Given the description of an element on the screen output the (x, y) to click on. 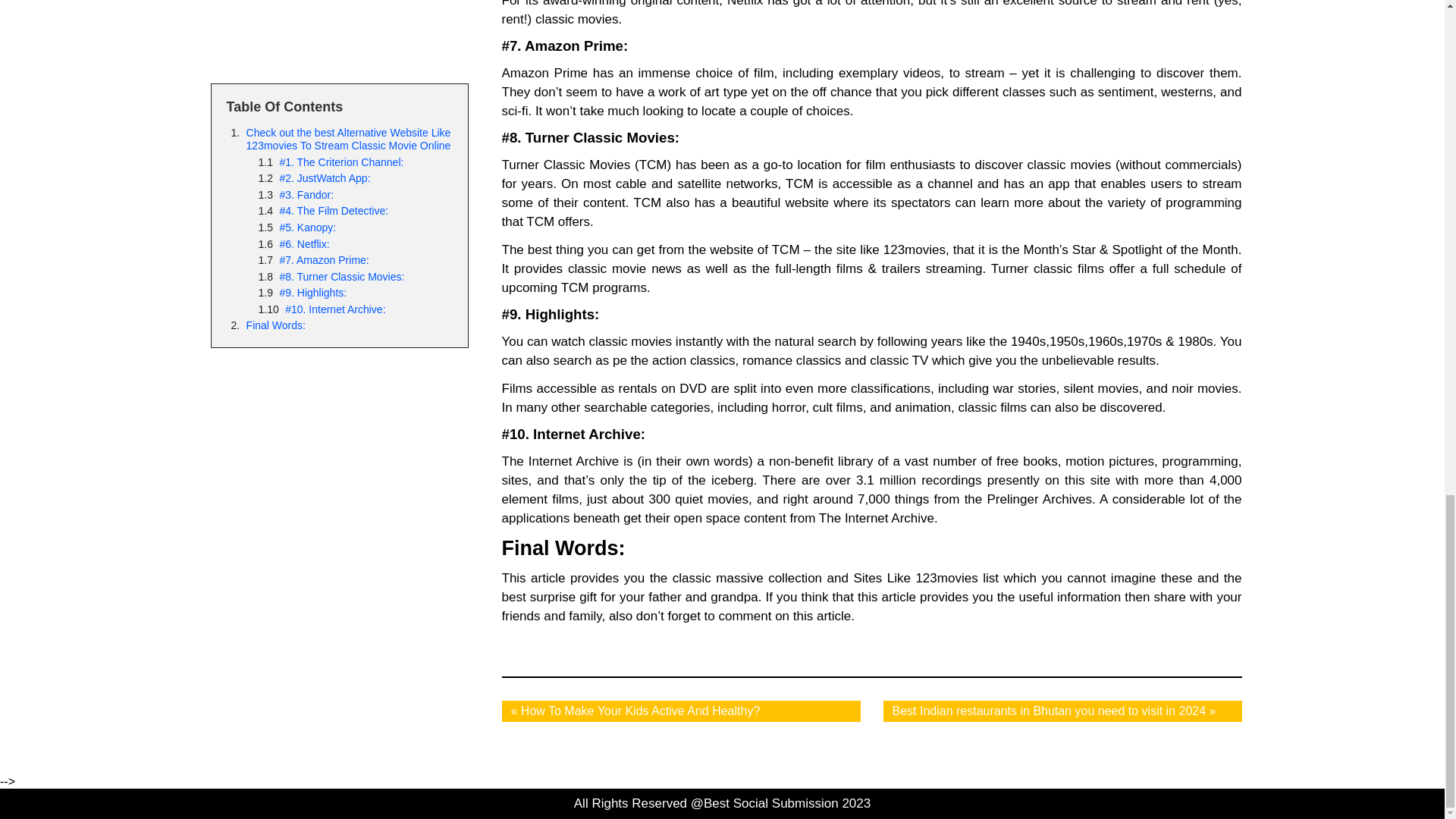
How To Make Your Kids Active And Healthy? (640, 710)
Best Indian restaurants in Bhutan you need to visit in 2024 (1048, 710)
